Given the description of an element on the screen output the (x, y) to click on. 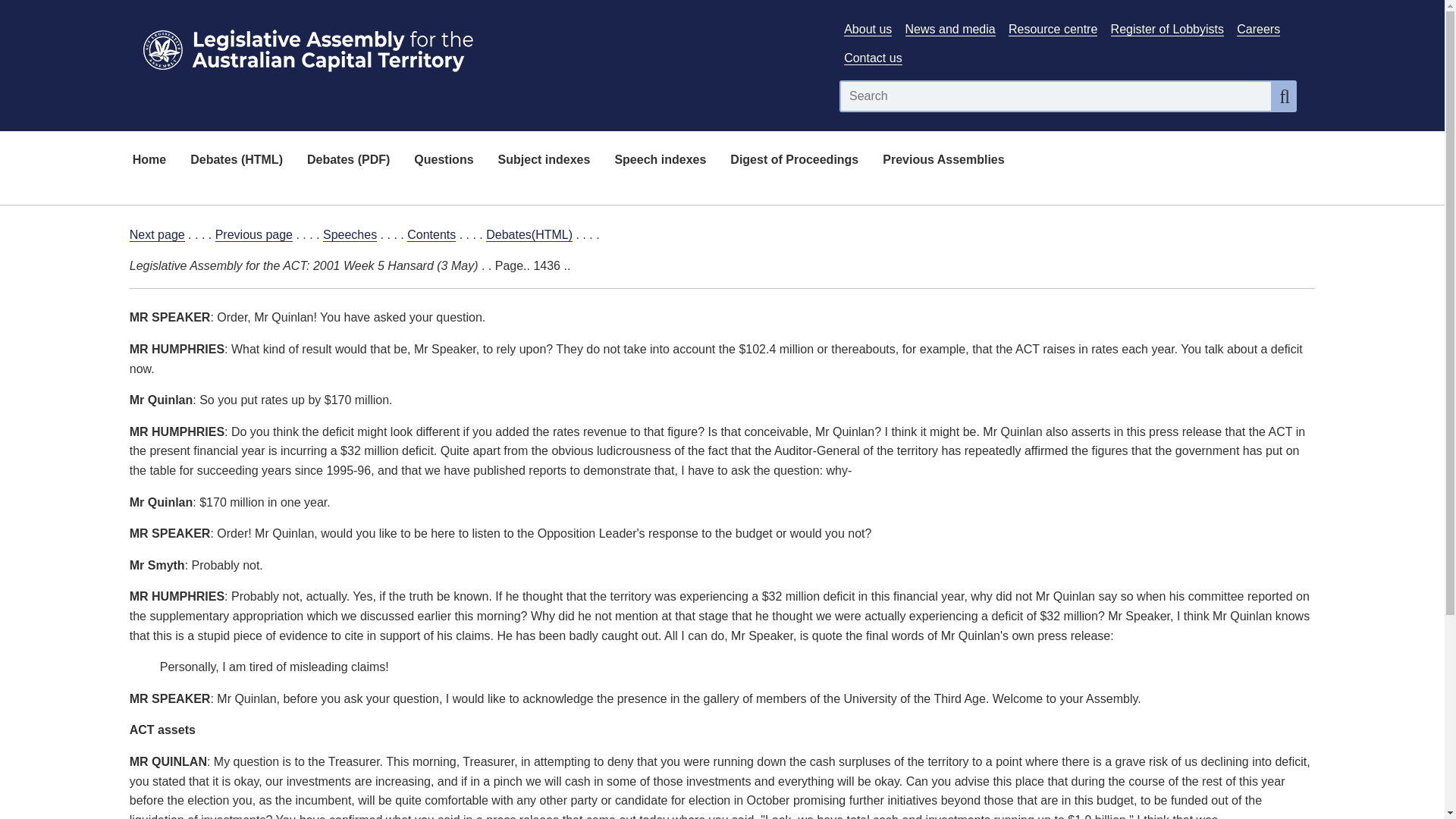
About us (867, 29)
Speeches (350, 234)
Link to About Us (867, 29)
Speech indexes (659, 160)
Resource centre (1053, 29)
Contact us (872, 58)
Link to Contact Us (872, 58)
Digest of Proceedings (793, 160)
Link to News and media (950, 29)
Home (148, 160)
